Given the description of an element on the screen output the (x, y) to click on. 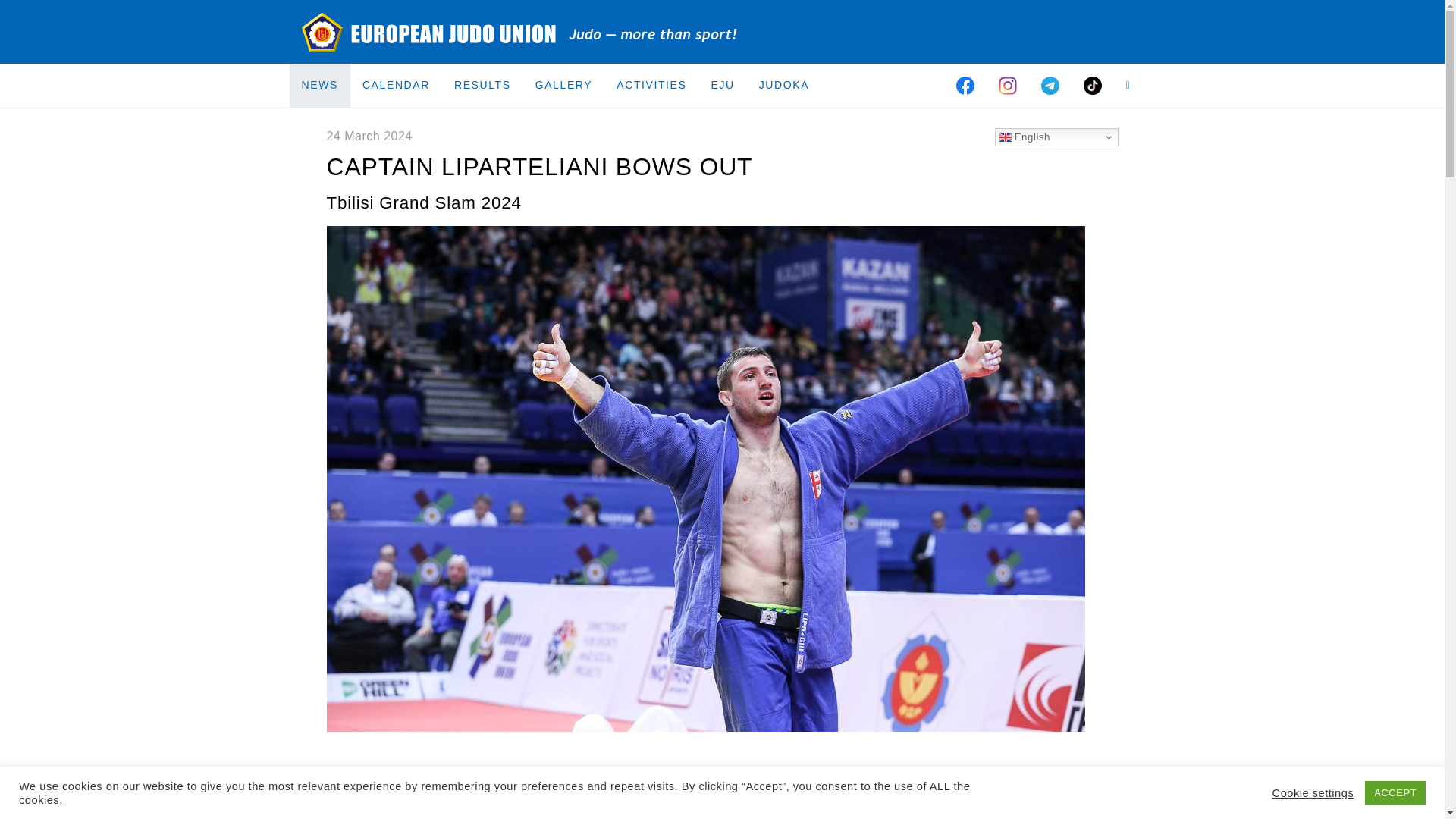
ACTIVITIES (651, 85)
GALLERY (563, 85)
CALENDAR (396, 85)
Gallery (563, 85)
Results (482, 85)
Activities (651, 85)
EJU (721, 85)
Facebook (965, 85)
News (319, 85)
JUDOKA (783, 85)
European Judo Union (520, 31)
Calendar (396, 85)
Instagram (1008, 85)
EJU (721, 85)
Judoka (783, 85)
